Given the description of an element on the screen output the (x, y) to click on. 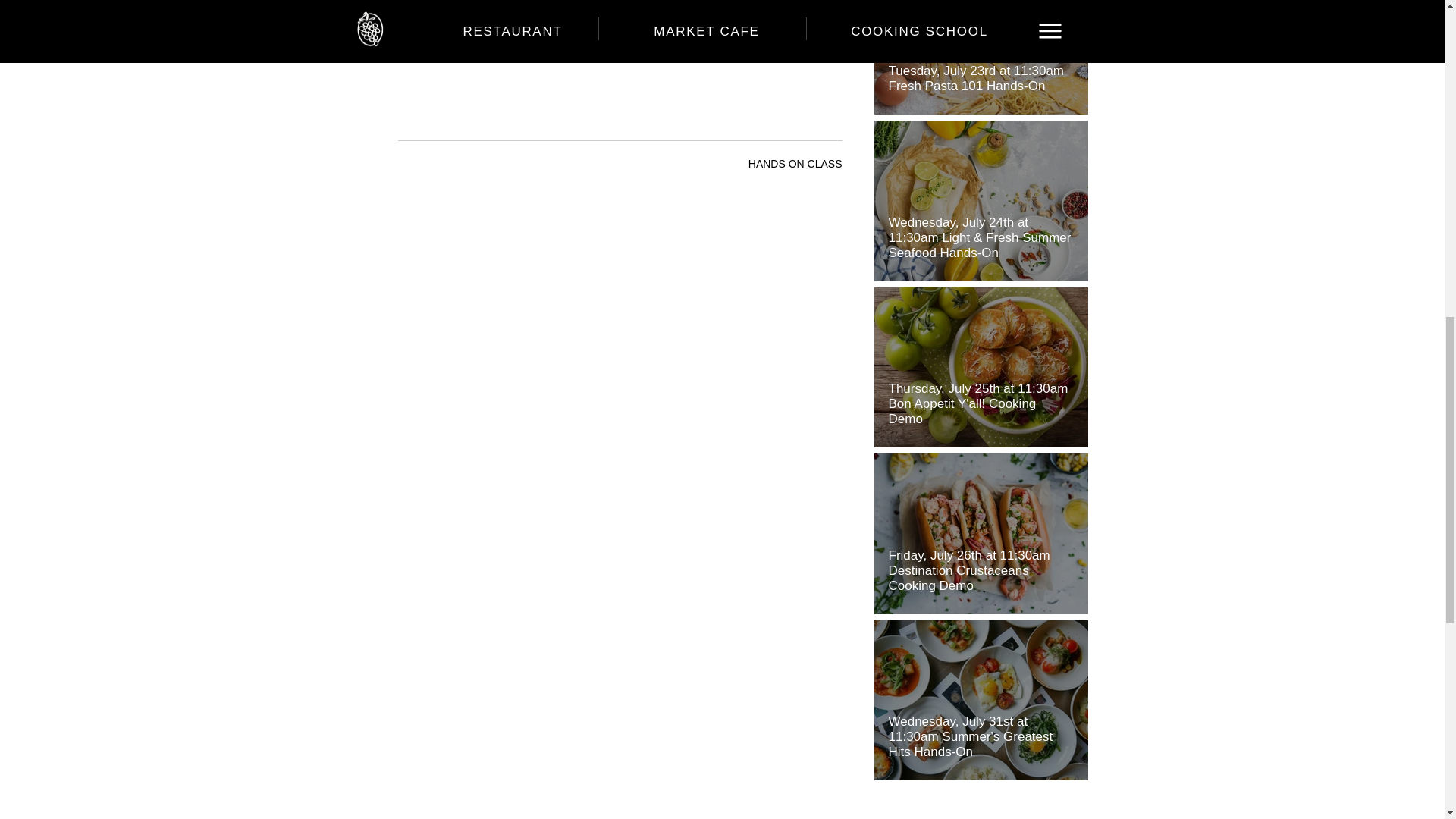
Tuesday, July 23rd at 11:30am Fresh Pasta 101 Hands-On (981, 71)
HANDS ON CLASS (795, 163)
